Given the description of an element on the screen output the (x, y) to click on. 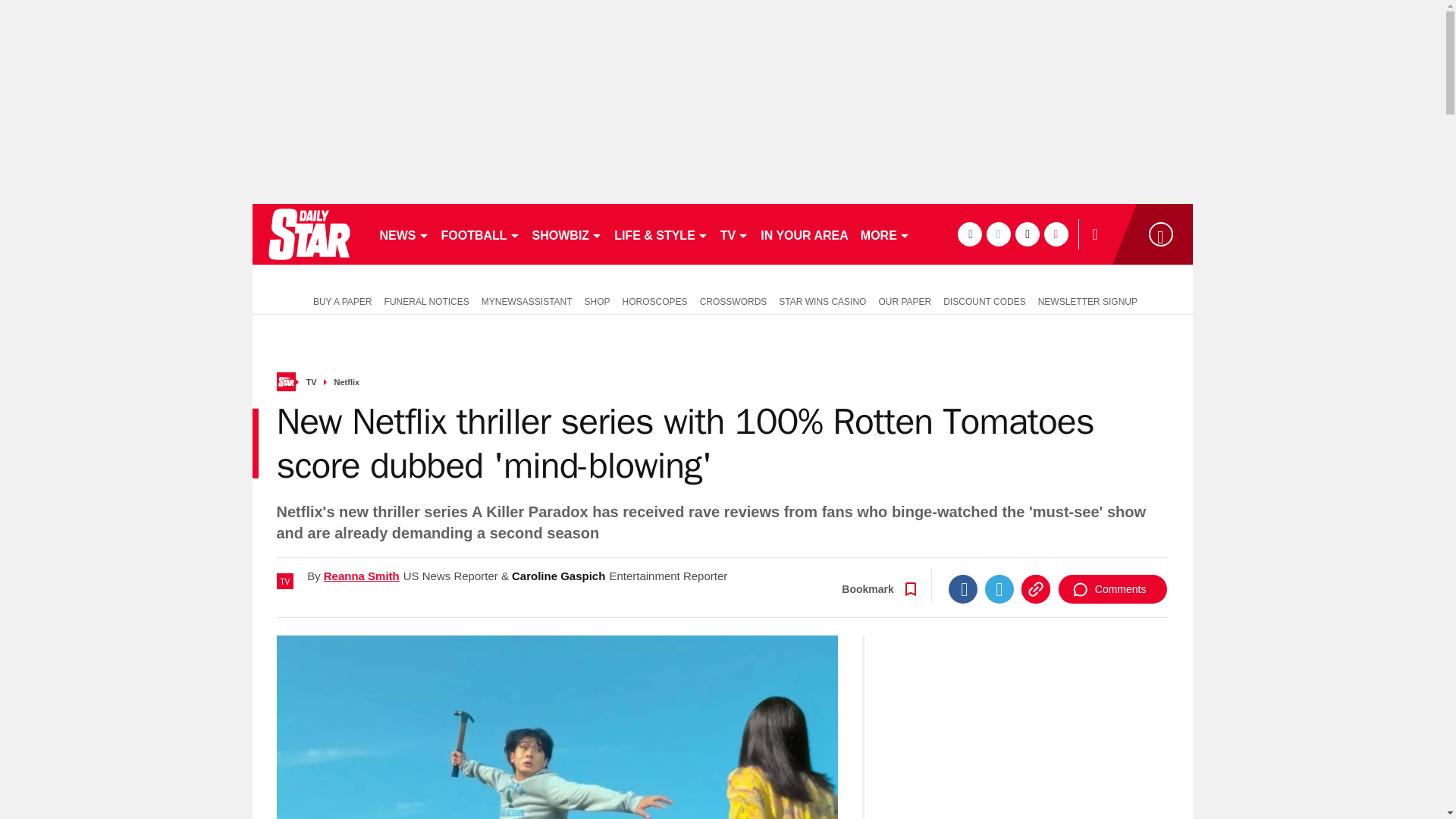
twitter (997, 233)
Facebook (962, 588)
Twitter (999, 588)
SHOWBIZ (566, 233)
FOOTBALL (480, 233)
dailystar (308, 233)
NEWS (402, 233)
facebook (968, 233)
Comments (1112, 588)
tiktok (1026, 233)
